Given the description of an element on the screen output the (x, y) to click on. 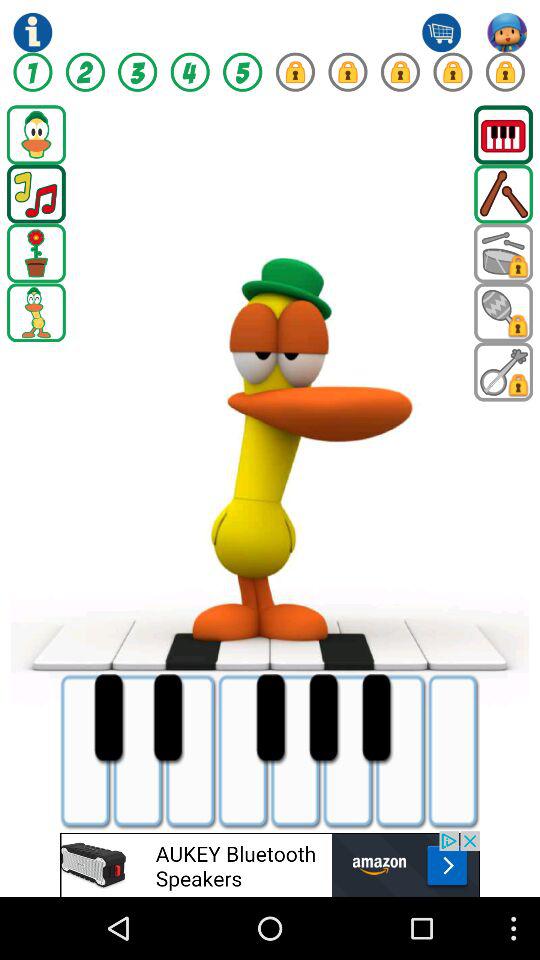
games (503, 253)
